Given the description of an element on the screen output the (x, y) to click on. 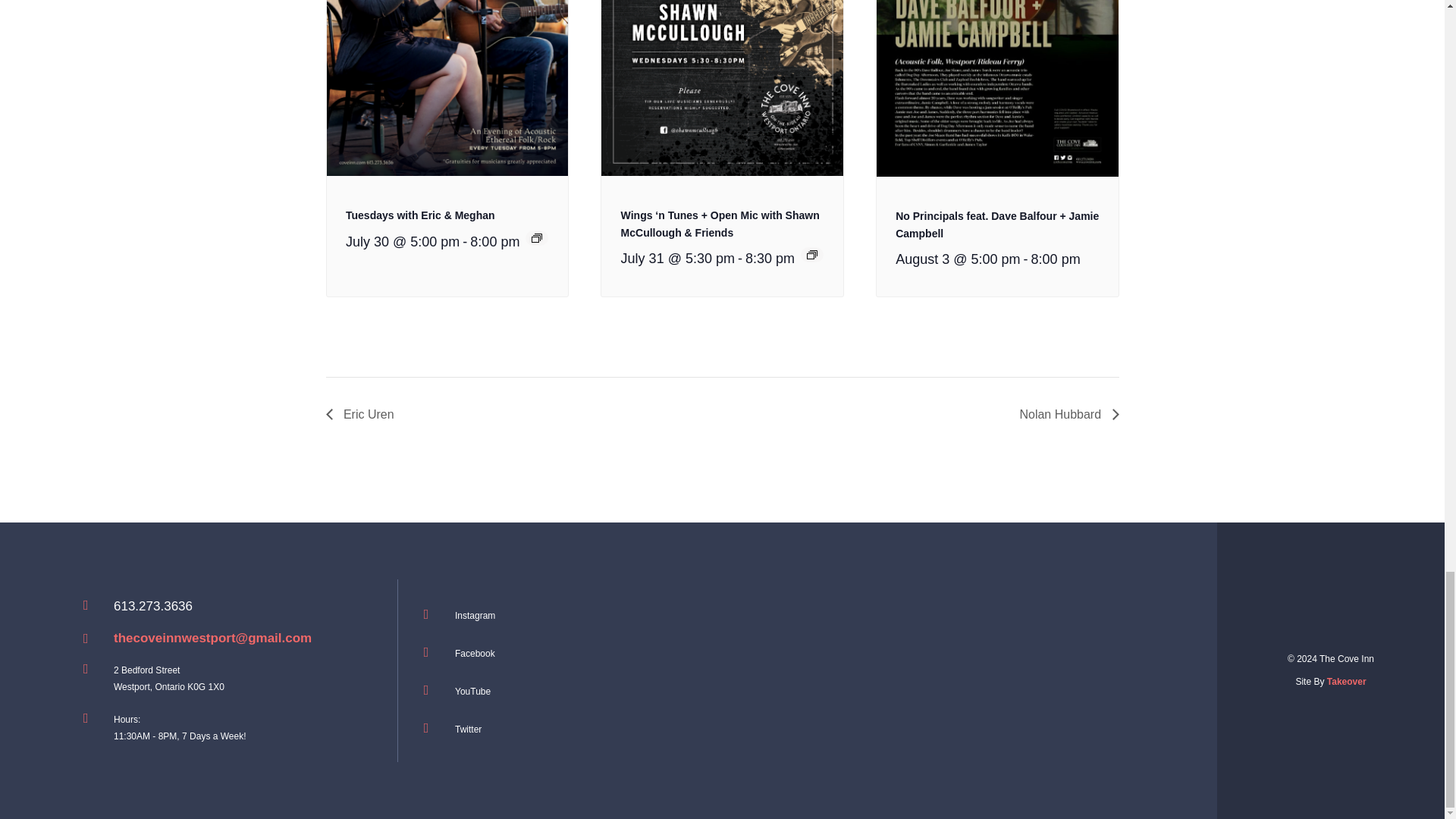
Event Series (811, 254)
Website by Takeover Studio (1346, 681)
Event Series (536, 237)
